Given the description of an element on the screen output the (x, y) to click on. 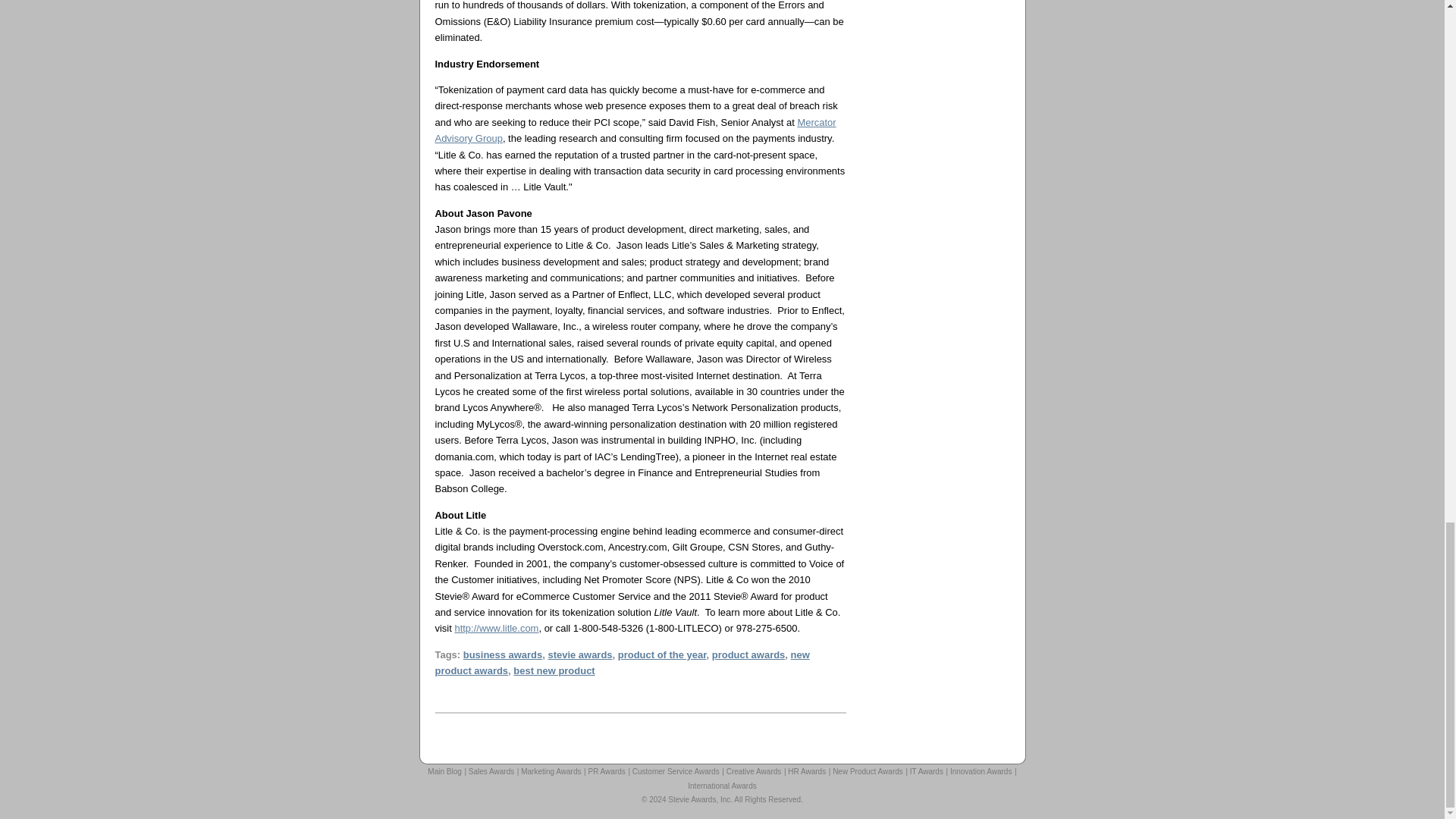
product awards (748, 654)
stevie awards (579, 654)
new product awards (622, 662)
best new product (553, 670)
product of the year (661, 654)
Mercator Advisory Group (635, 130)
business awards (503, 654)
